Given the description of an element on the screen output the (x, y) to click on. 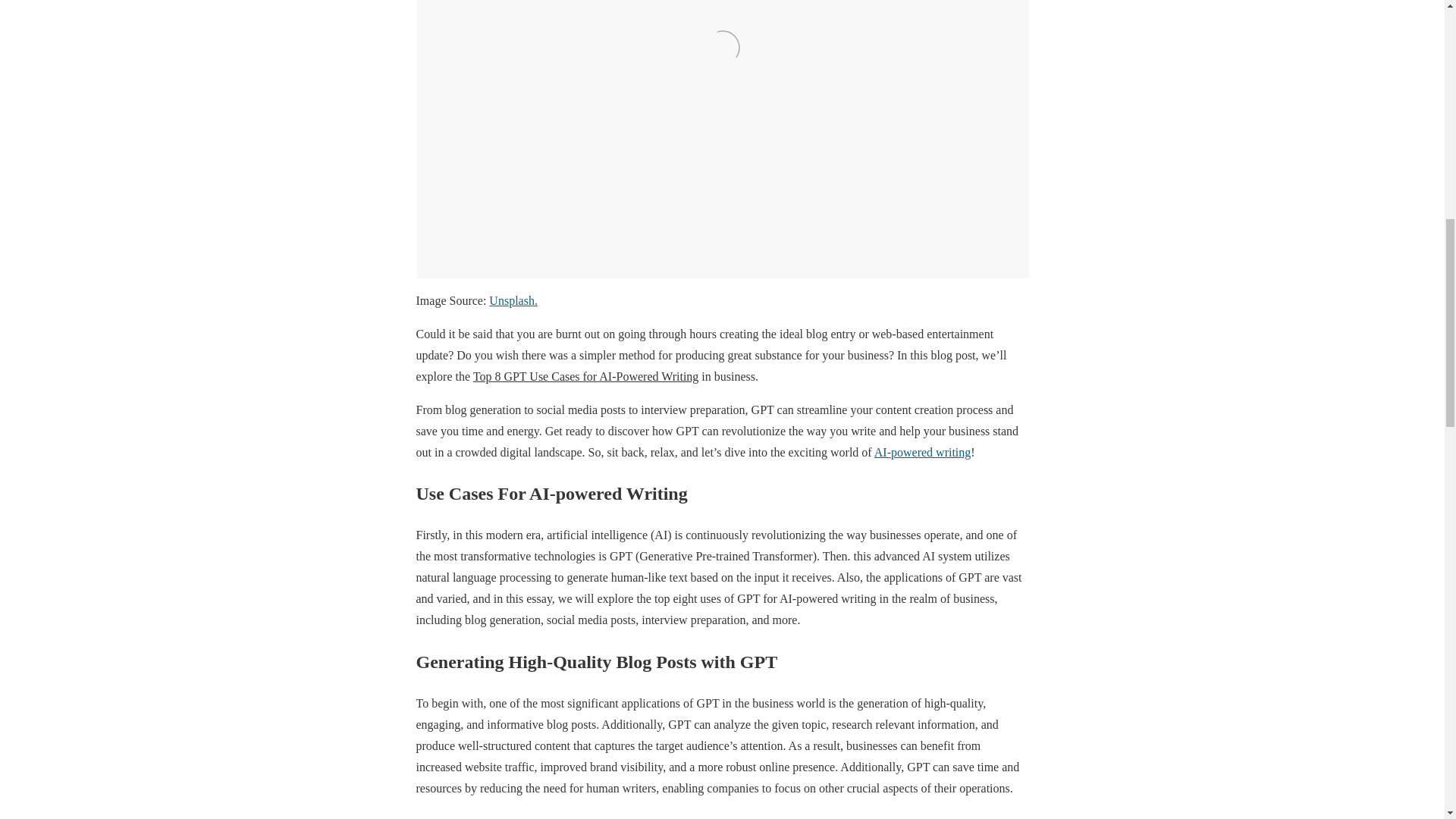
AI-powered writing (923, 451)
Unsplash. (513, 300)
